Given the description of an element on the screen output the (x, y) to click on. 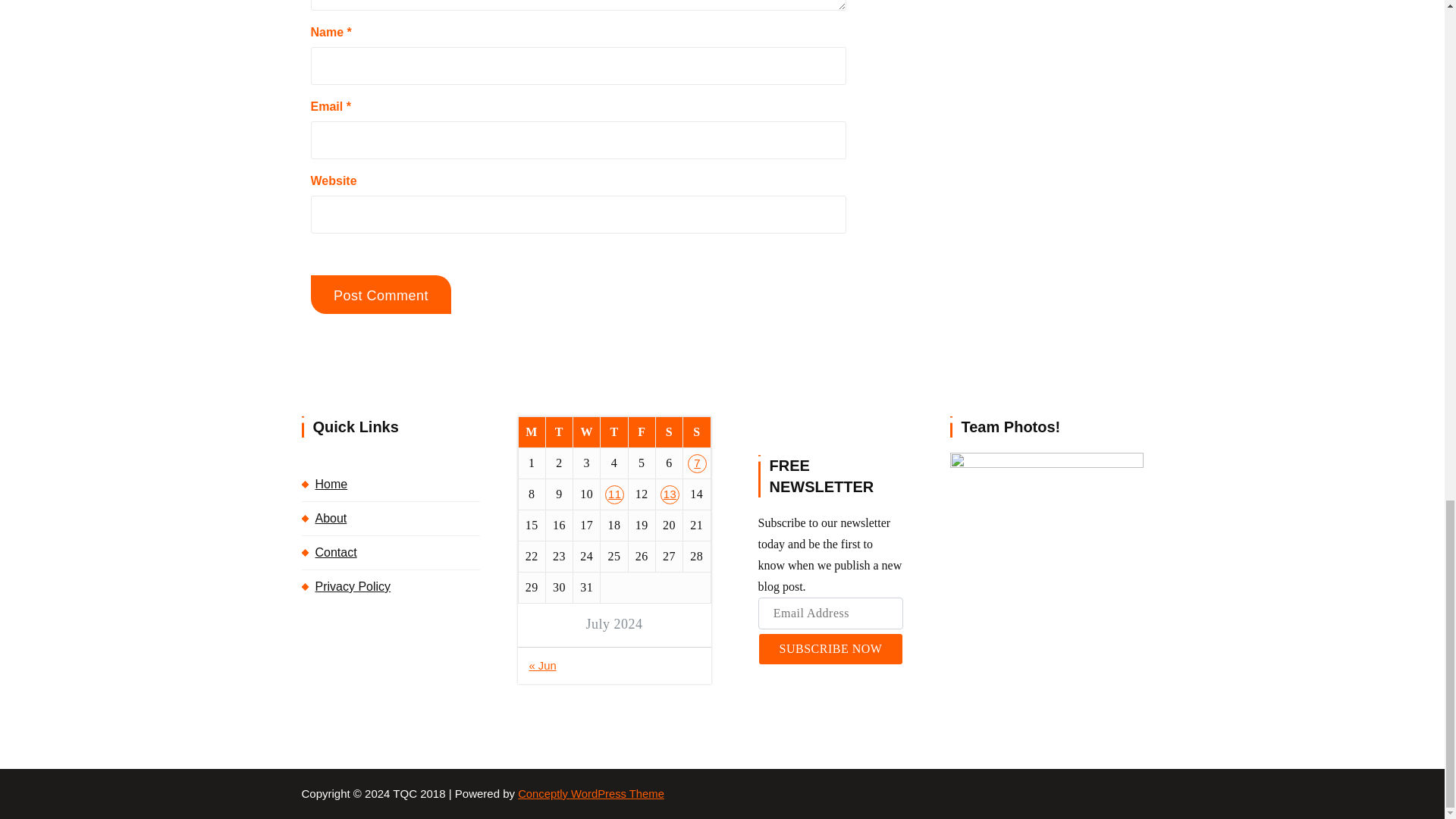
Post Comment (381, 294)
7 (696, 463)
SUBSCRIBE NOW (830, 649)
Post Comment (381, 294)
Home (390, 484)
Contact (390, 552)
11 (614, 494)
About (390, 518)
Privacy Policy (390, 586)
